Given the description of an element on the screen output the (x, y) to click on. 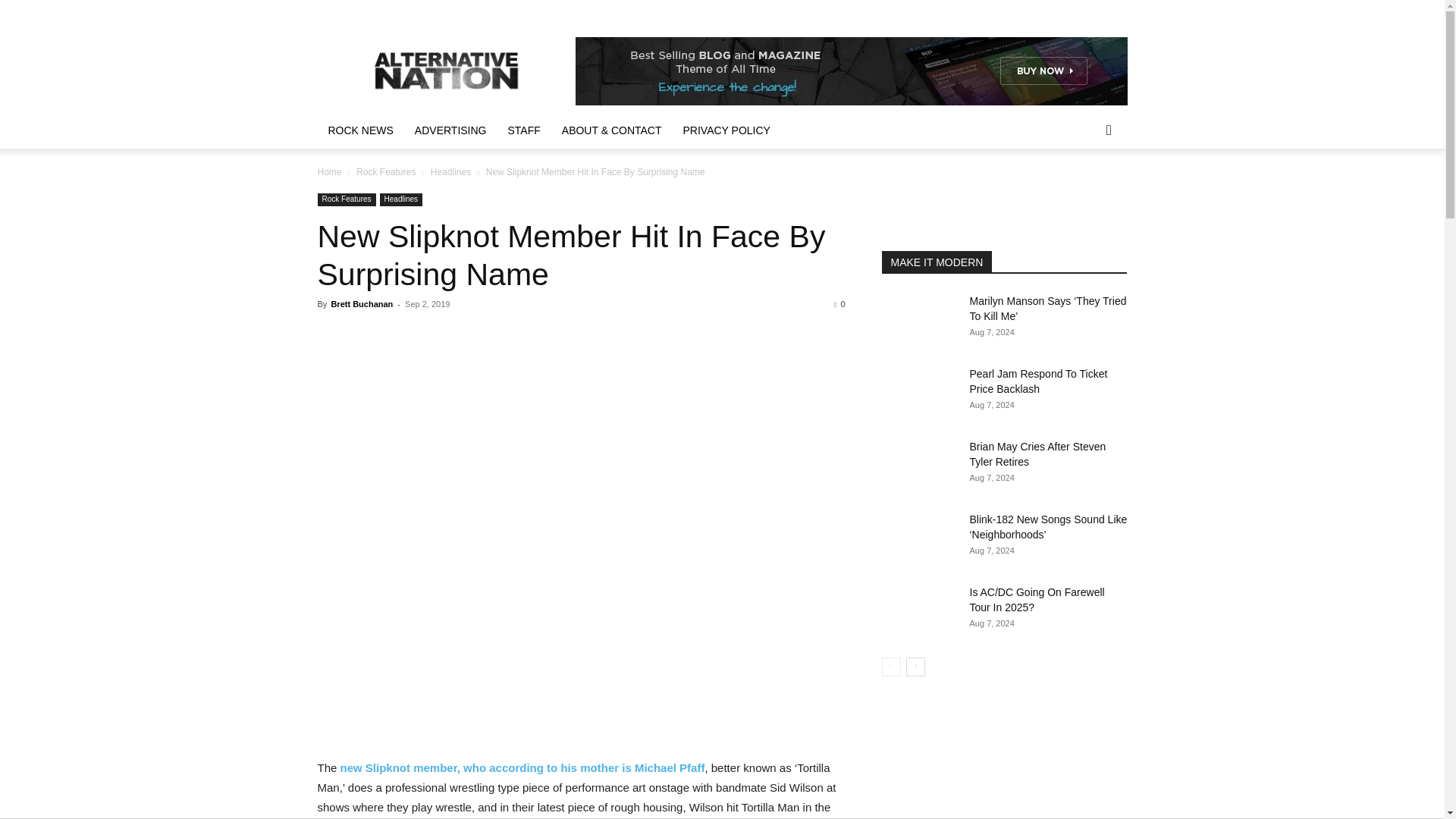
0 (839, 303)
Search (1085, 191)
Brett Buchanan (361, 303)
Rock Features (346, 199)
View all posts in Rock Features (385, 172)
View all posts in Headlines (450, 172)
ADVERTISING (450, 130)
PRIVACY POLICY (726, 130)
Home (328, 172)
Headlines (450, 172)
Rock Features (385, 172)
ROCK NEWS (360, 130)
STAFF (524, 130)
